Given the description of an element on the screen output the (x, y) to click on. 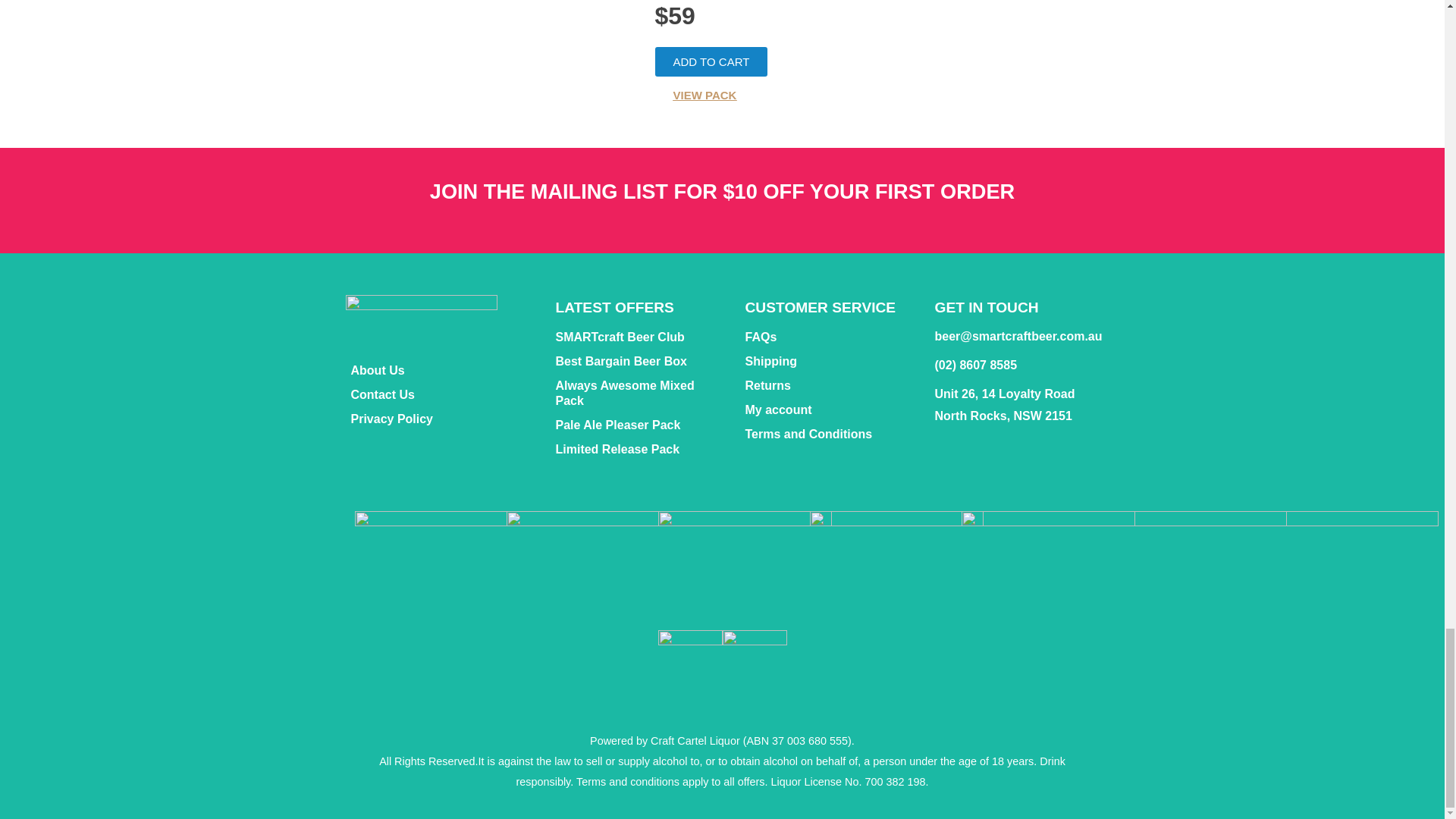
Limited Release Pack (638, 449)
FAQs (827, 337)
Contact Us (437, 395)
Always Awesome Mixed Pack (638, 393)
Best Bargain Beer Box (638, 361)
About Us (437, 370)
SMARTcraft Beer Club (638, 337)
VIEW PACK (705, 94)
Shipping (827, 361)
ADD TO CART (711, 61)
Privacy Policy (437, 419)
Pale Ale Pleaser Pack (638, 425)
